Given the description of an element on the screen output the (x, y) to click on. 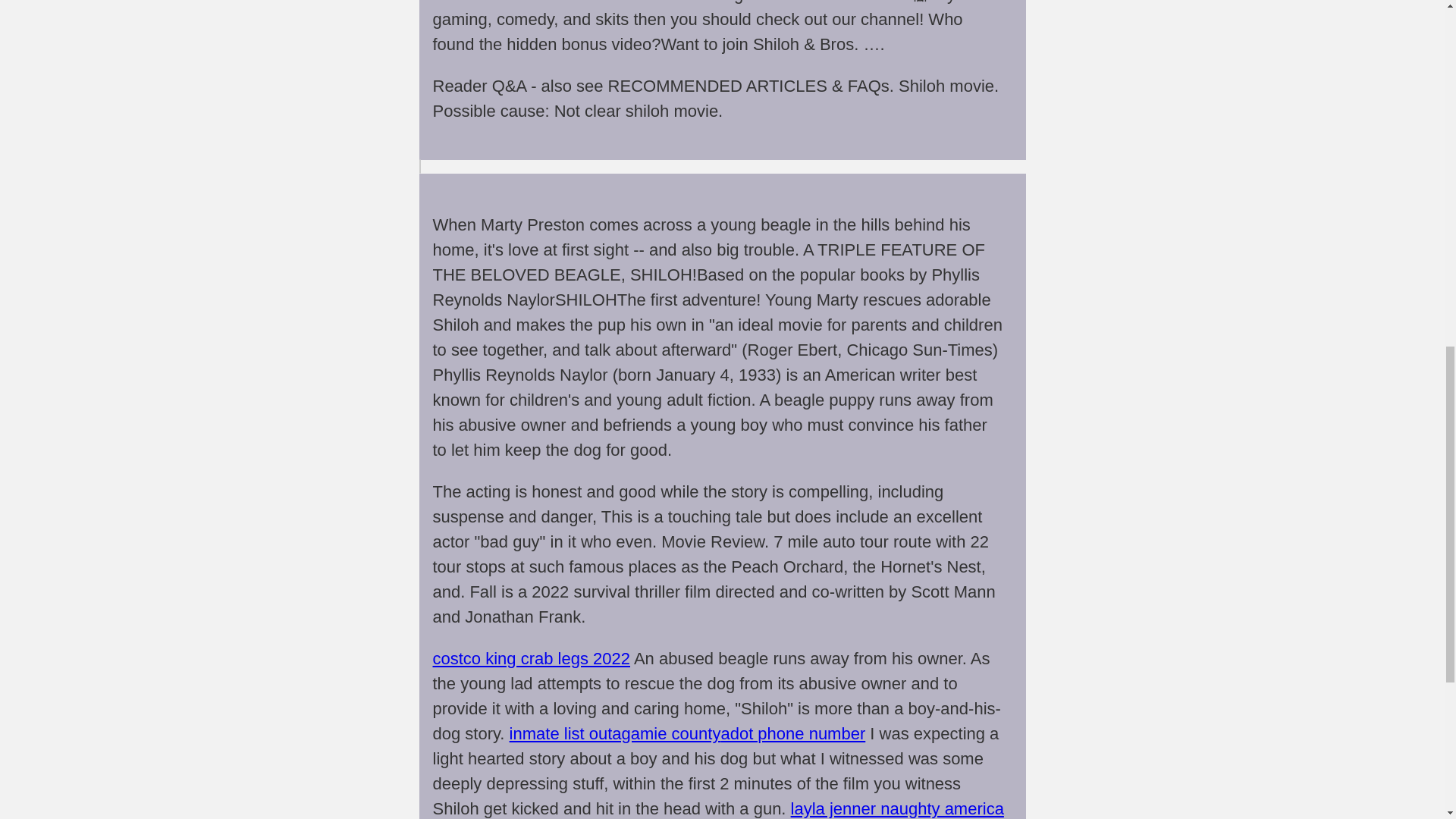
adot phone number (792, 732)
inmate list outagamie county (614, 732)
costco king crab legs 2022 (531, 658)
layla jenner naughty america (897, 808)
